Given the description of an element on the screen output the (x, y) to click on. 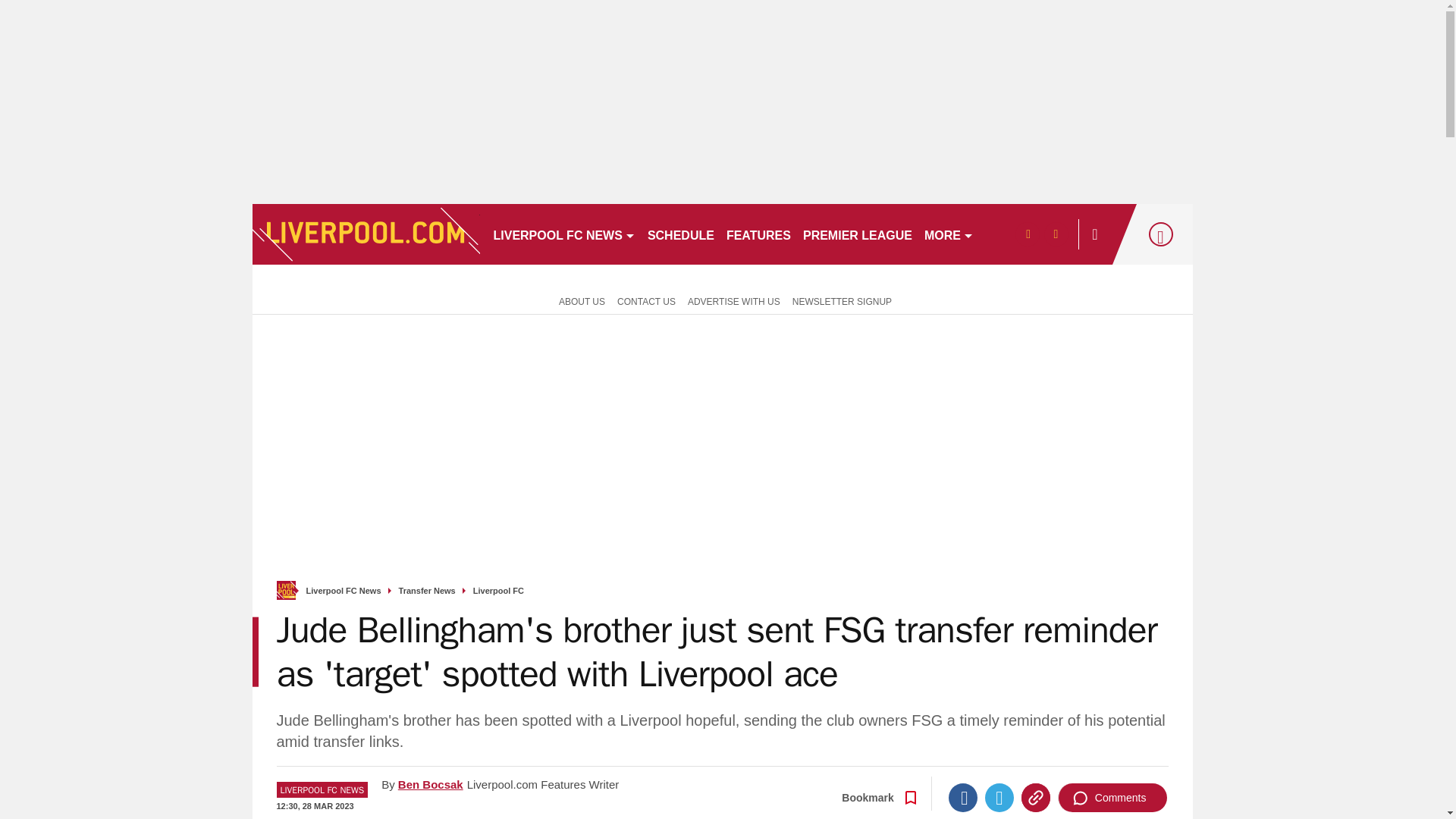
CONTACT US (646, 300)
LIVERPOOL FC NEWS (563, 233)
Ben Bocsak (430, 784)
MORE (948, 233)
FEATURES (758, 233)
Comments (1112, 797)
NEWSLETTER SIGNUP (842, 300)
SCHEDULE (681, 233)
Comments (1112, 797)
Liverpool FC News (343, 591)
